Given the description of an element on the screen output the (x, y) to click on. 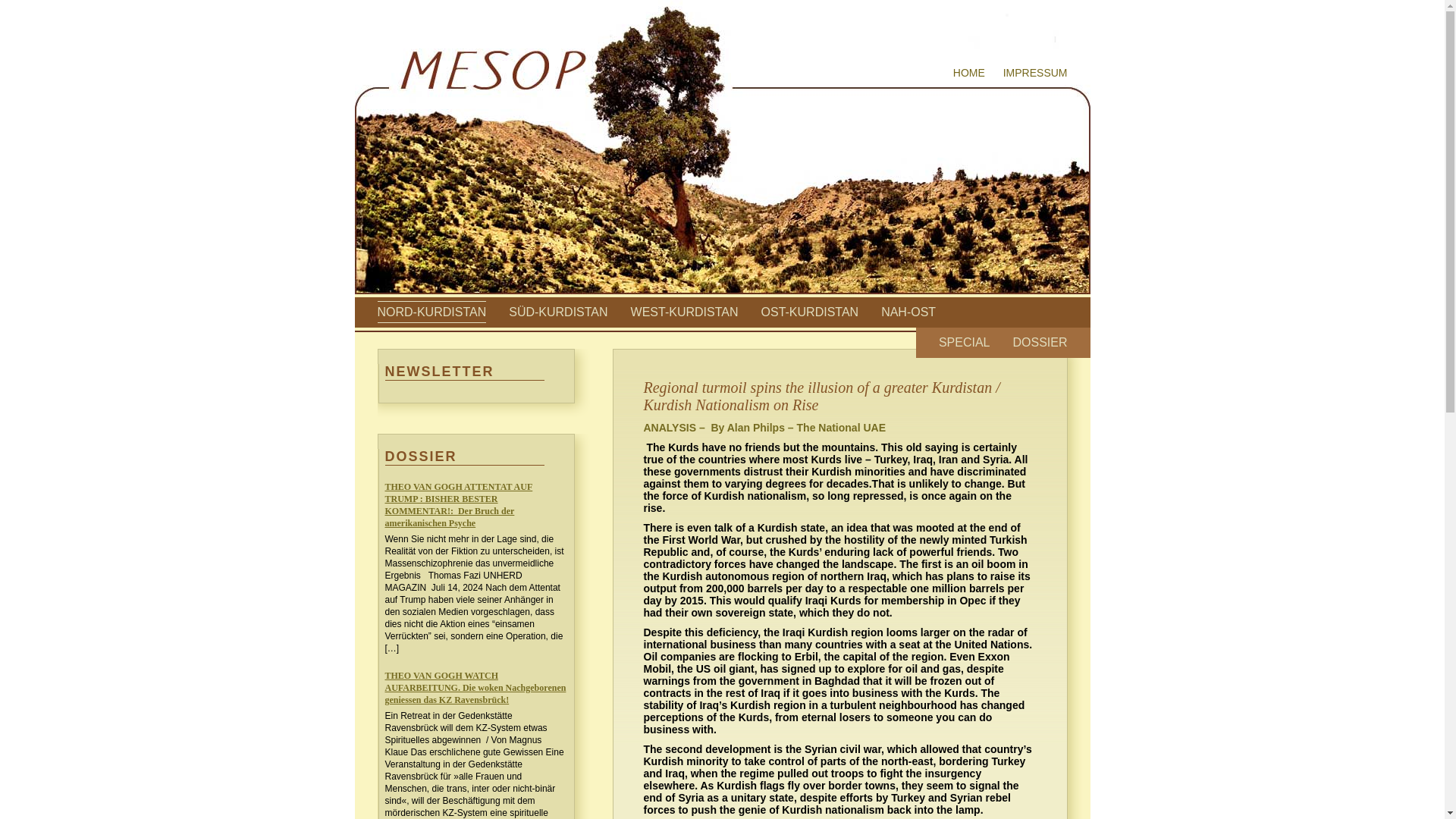
IMPRESSUM (1035, 72)
SPECIAL (964, 341)
DOSSIER (1039, 341)
WEST-KURDISTAN (684, 311)
NAH-OST (908, 311)
NORD-KURDISTAN (431, 311)
OST-KURDISTAN (810, 311)
HOME (969, 72)
